Given the description of an element on the screen output the (x, y) to click on. 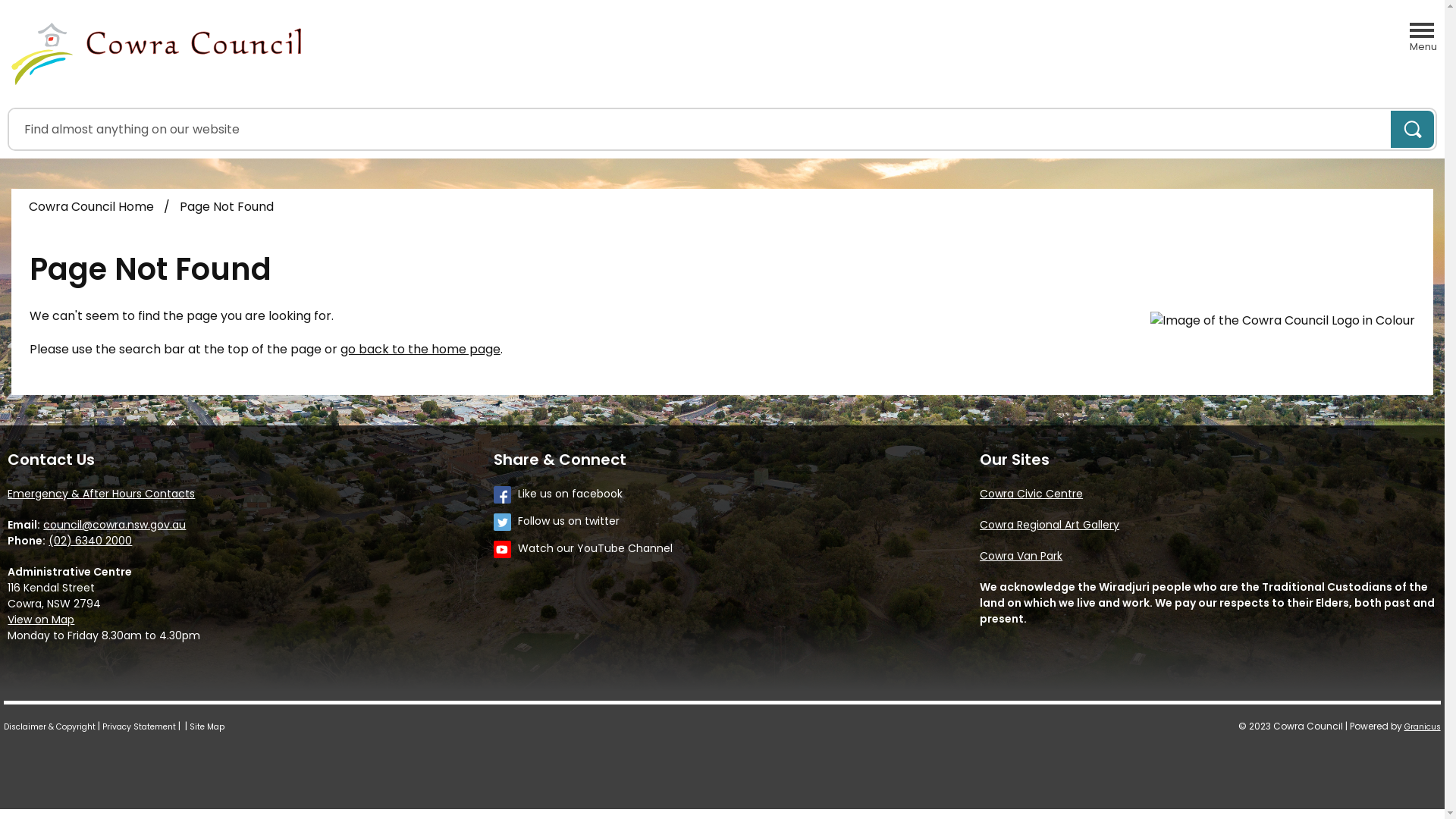
View on Map Element type: text (40, 619)
Cowra Council Home Element type: text (90, 206)
Granicus Element type: text (1422, 726)
Disclaimer & Copyright Element type: text (49, 726)
Cowra Regional Art Gallery Element type: text (1049, 524)
Cowra Van Park Element type: text (1020, 555)
Emergency & After Hours Contacts Element type: text (100, 493)
Follow us on twitter Element type: text (733, 521)
Privacy Statement Element type: text (138, 726)
Menu Element type: text (1423, 32)
go back to the home page Element type: text (420, 348)
Site Map Element type: text (206, 726)
council@cowra.nsw.gov.au Element type: text (114, 524)
Cowra Civic Centre Element type: text (1030, 493)
Cowra Council Home - Cowra Council - Logo Element type: text (156, 53)
Like us on facebook Element type: text (733, 494)
Search Element type: text (1412, 129)
Watch our YouTube Channel Element type: text (733, 548)
(02) 6340 2000 Element type: text (89, 540)
